Given the description of an element on the screen output the (x, y) to click on. 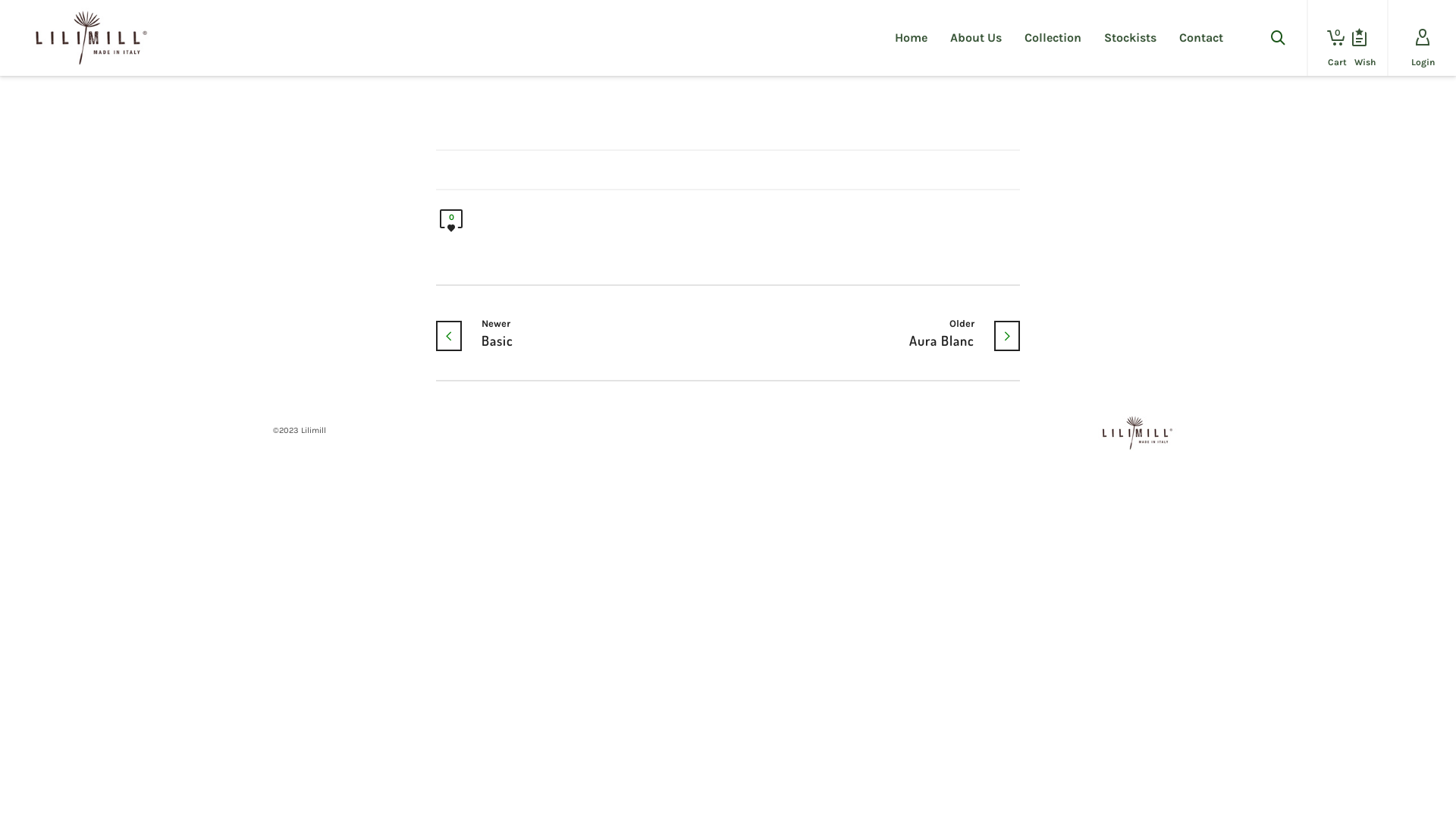
Stockists Element type: text (1129, 37)
Collection Element type: text (1052, 37)
About Us Element type: text (975, 37)
Home Element type: text (910, 37)
Newer
Basic Element type: text (533, 332)
0 Element type: text (450, 223)
0 Element type: text (1331, 37)
Older
Aura Blanc Element type: text (922, 332)
View your wishlist Element type: hover (1359, 37)
Contact Element type: text (1200, 37)
